Given the description of an element on the screen output the (x, y) to click on. 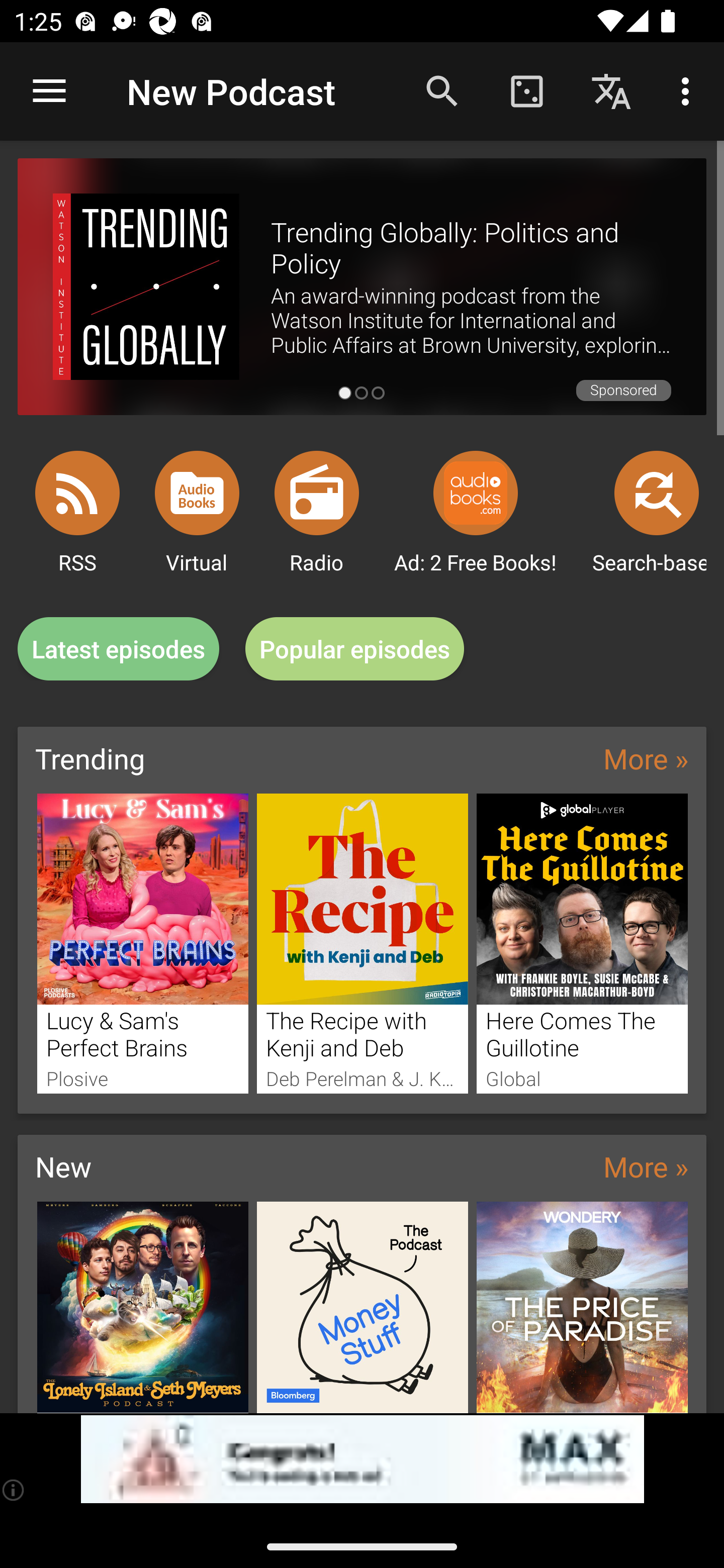
Open navigation sidebar (49, 91)
Search (442, 90)
Random pick (526, 90)
Podcast languages (611, 90)
More options (688, 90)
RSS (77, 492)
Virtual (196, 492)
Radio (316, 492)
Search-based (656, 492)
Latest episodes (118, 648)
Popular episodes (354, 648)
More » (645, 757)
Lucy & Sam's Perfect Brains Plosive (142, 942)
Here Comes The Guillotine Global (581, 942)
More » (645, 1166)
The Lonely Island and Seth Meyers Podcast (142, 1306)
Money Stuff: The Podcast (362, 1306)
The Price of Paradise (581, 1306)
app-monetization (362, 1459)
(i) (14, 1489)
